Given the description of an element on the screen output the (x, y) to click on. 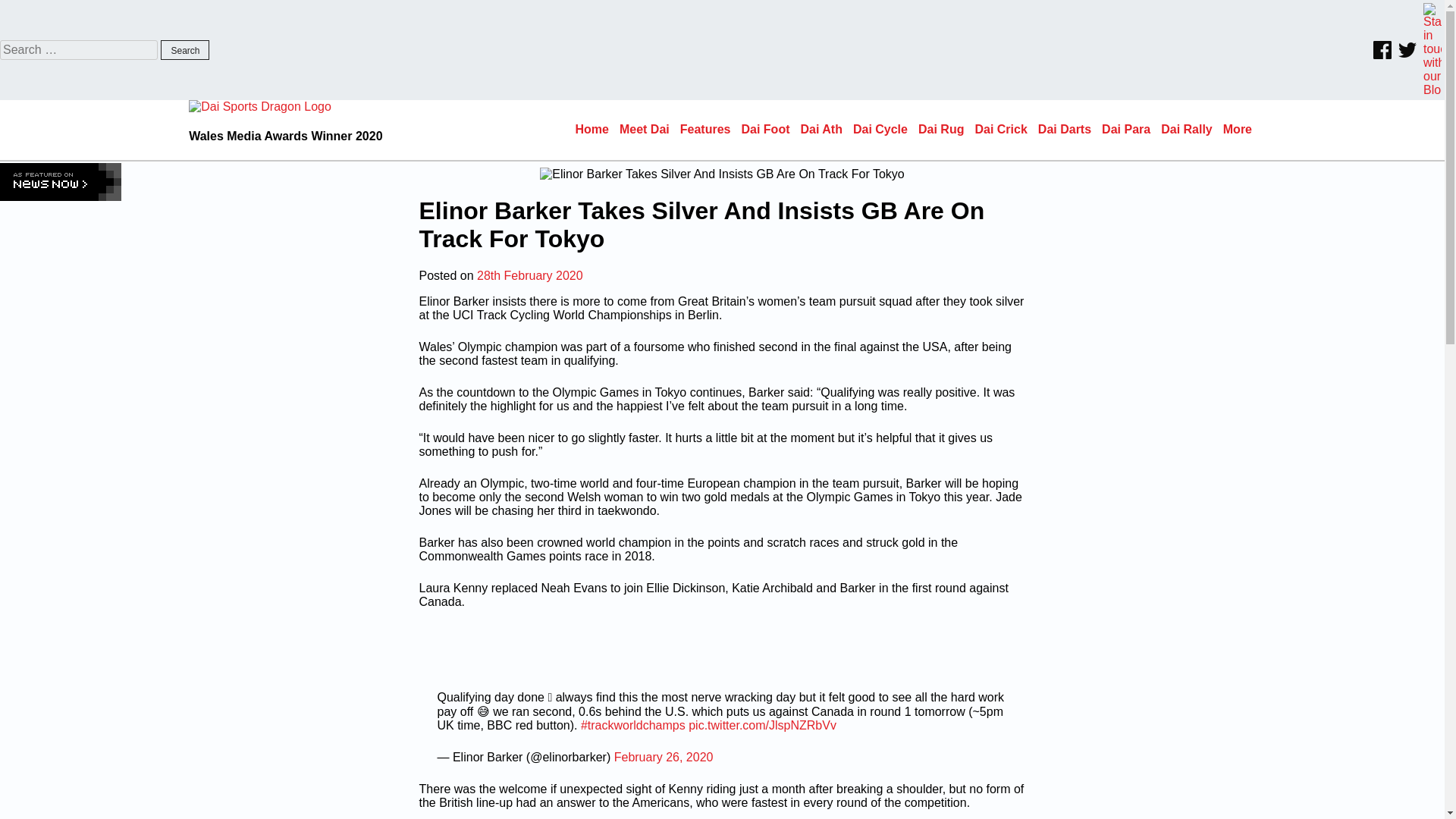
Search (184, 49)
Click here for more Welsh Sport news from NewsNow (60, 181)
Search (184, 49)
